Given the description of an element on the screen output the (x, y) to click on. 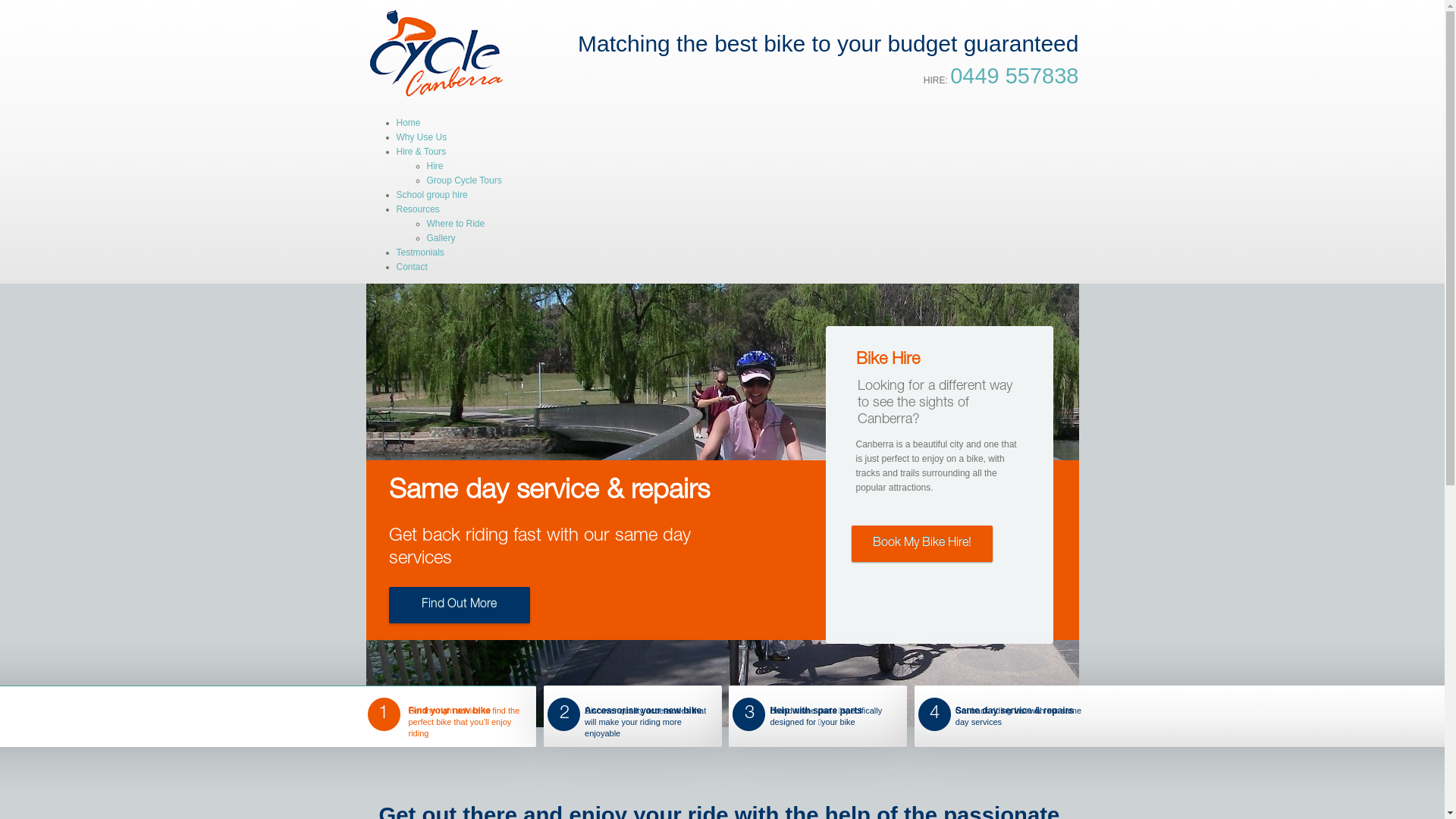
Book My Bike Hire! Element type: text (920, 543)
Find Out More Element type: text (458, 518)
Hire Element type: text (434, 165)
Contact Element type: text (410, 266)
Gallery Element type: text (440, 237)
Home Element type: text (407, 122)
Group Cycle Tours Element type: text (463, 180)
Hire & Tours Element type: text (420, 151)
Testmonials Element type: text (419, 252)
0449 557838 Element type: text (1014, 75)
Why Use Us Element type: text (420, 136)
Where to Ride Element type: text (455, 223)
Resources Element type: text (417, 208)
Find Out More Element type: text (458, 604)
School group hire Element type: text (431, 194)
